Given the description of an element on the screen output the (x, y) to click on. 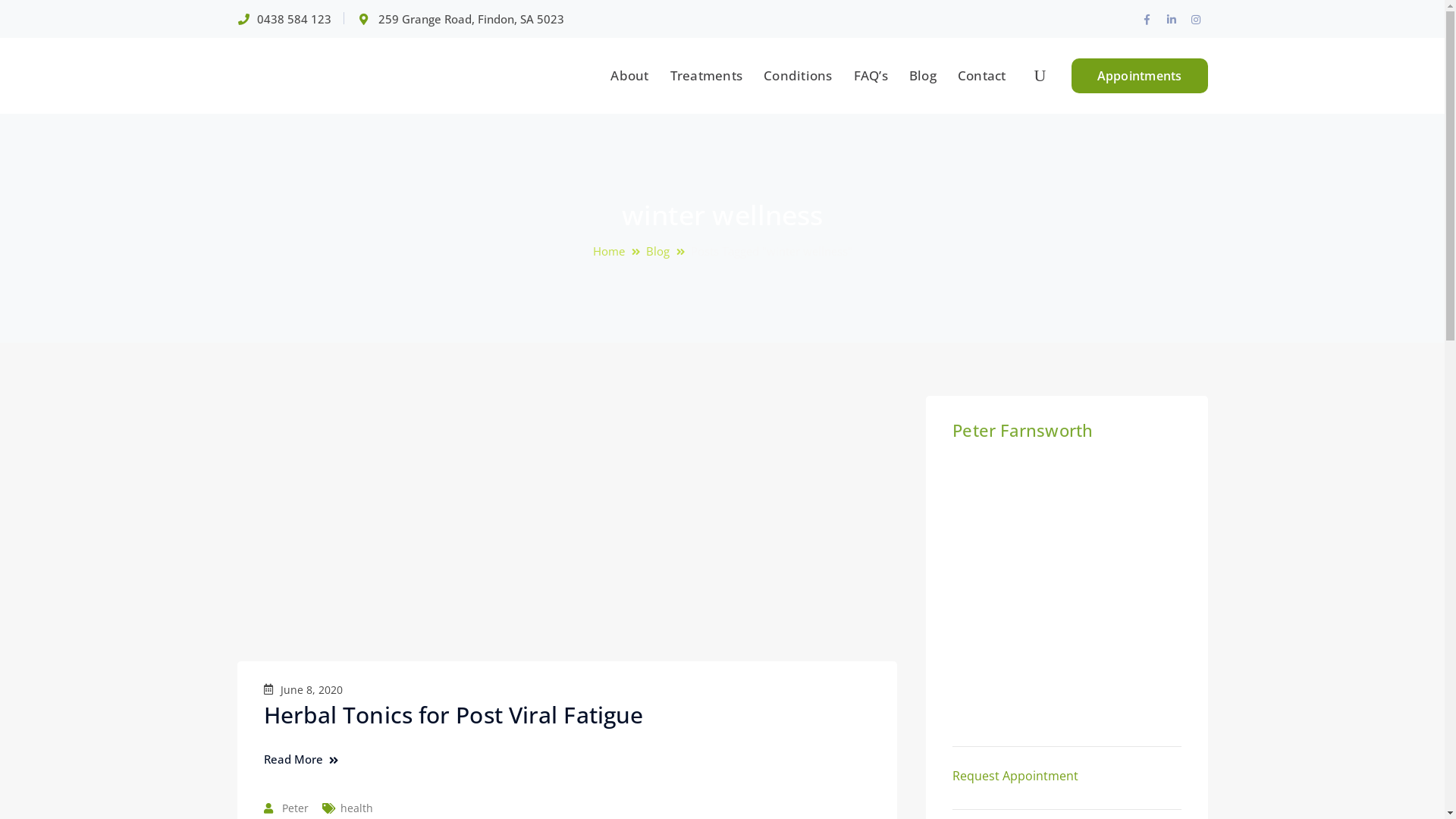
Blog Element type: text (668, 250)
Conditions Element type: text (797, 75)
Instagram Profile Element type: text (1195, 19)
Appointments Element type: text (1138, 75)
Peter Element type: text (295, 807)
Read More Element type: text (300, 758)
Treatments Element type: text (706, 75)
Contact Element type: text (981, 75)
Request Appointment Element type: text (1015, 775)
Home Element type: text (619, 250)
LinkedIn Profile Element type: text (1170, 19)
Facebook Profile Element type: text (1146, 19)
Herbal Tonics for Post Viral Fatigue Element type: text (453, 714)
health Element type: text (355, 807)
Blog Element type: text (922, 75)
About Element type: text (629, 75)
